Given the description of an element on the screen output the (x, y) to click on. 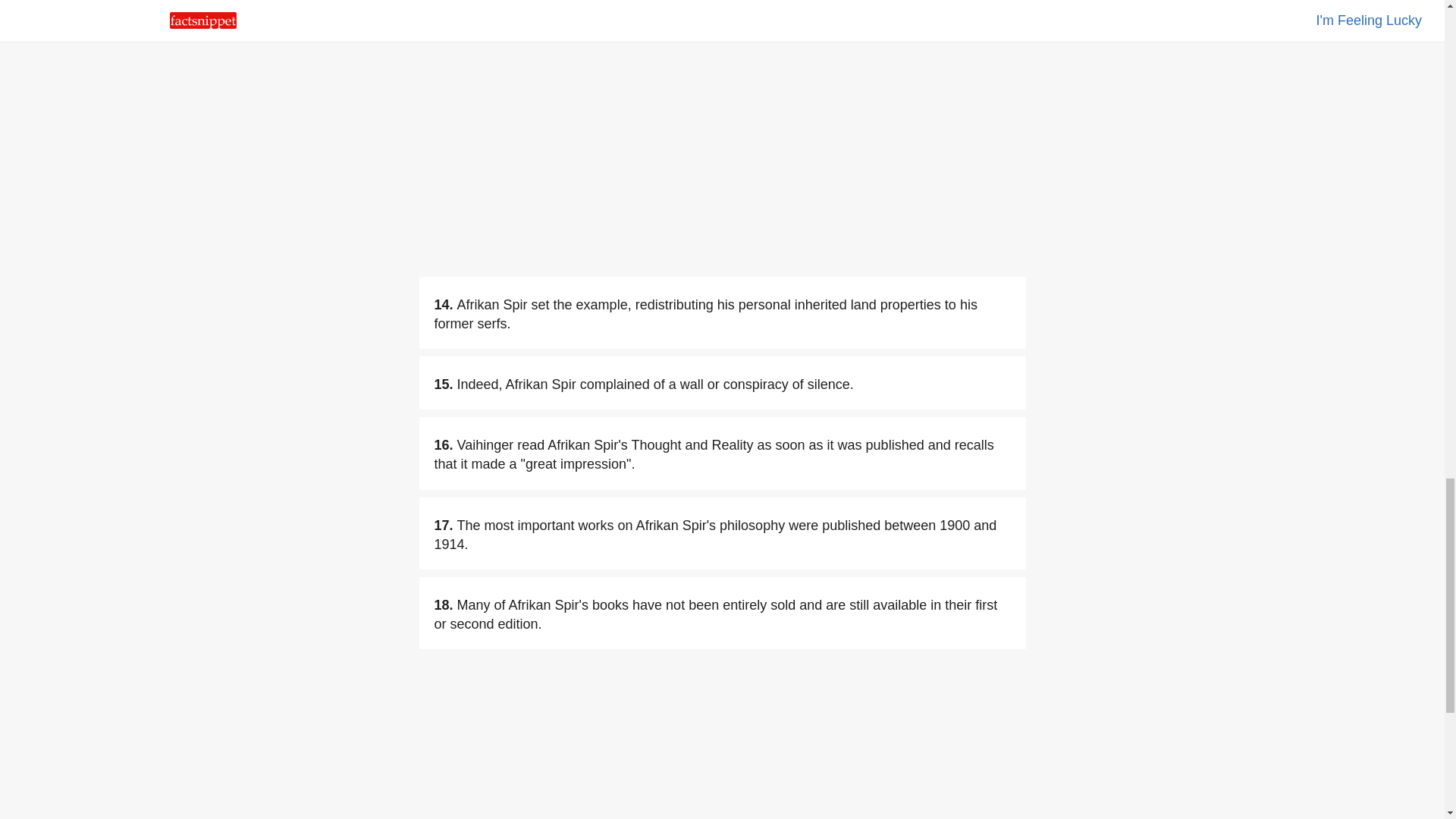
3rd party ad content (721, 745)
